Given the description of an element on the screen output the (x, y) to click on. 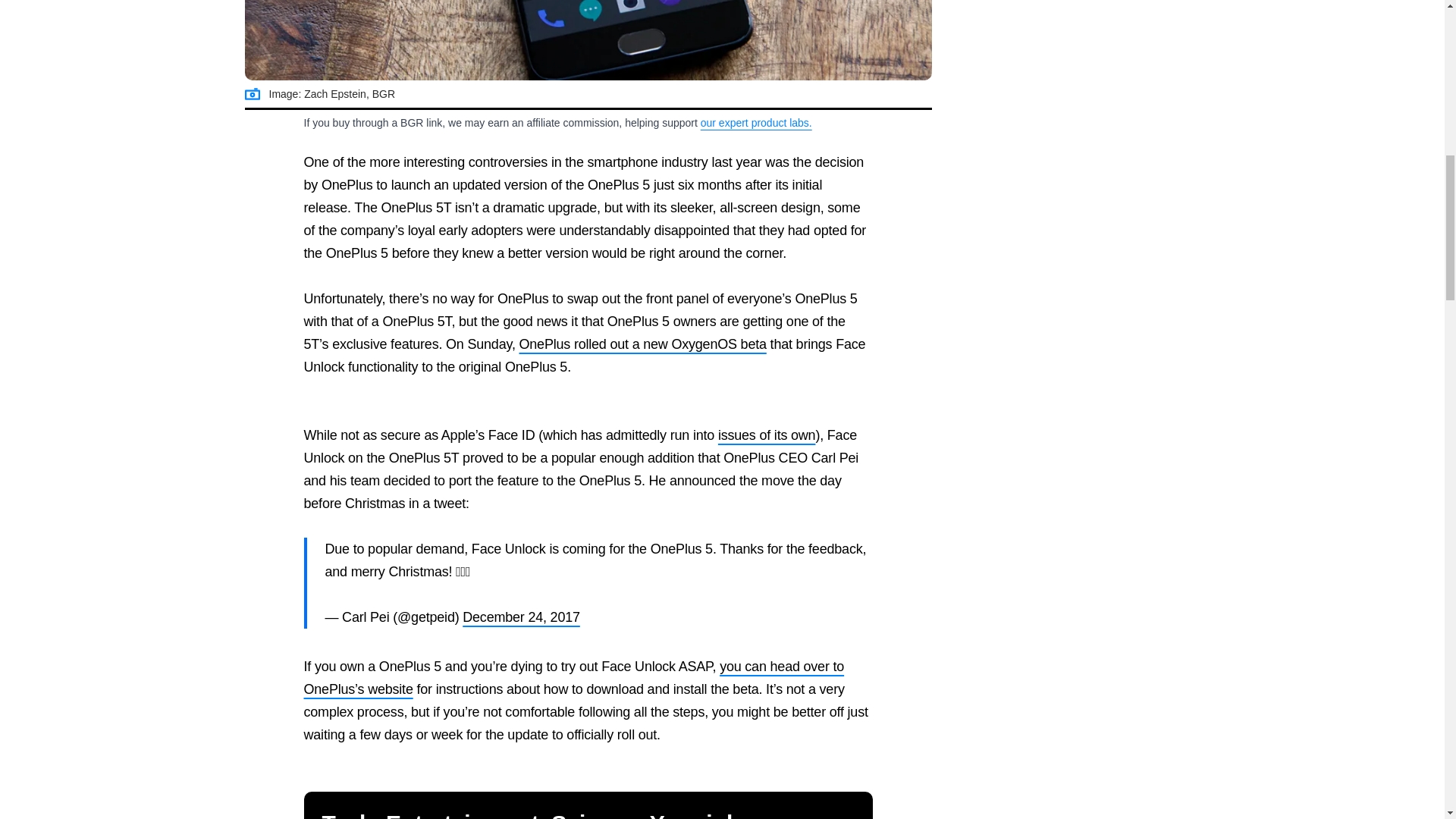
OnePlus 5 Face Unlock update (587, 40)
